Given the description of an element on the screen output the (x, y) to click on. 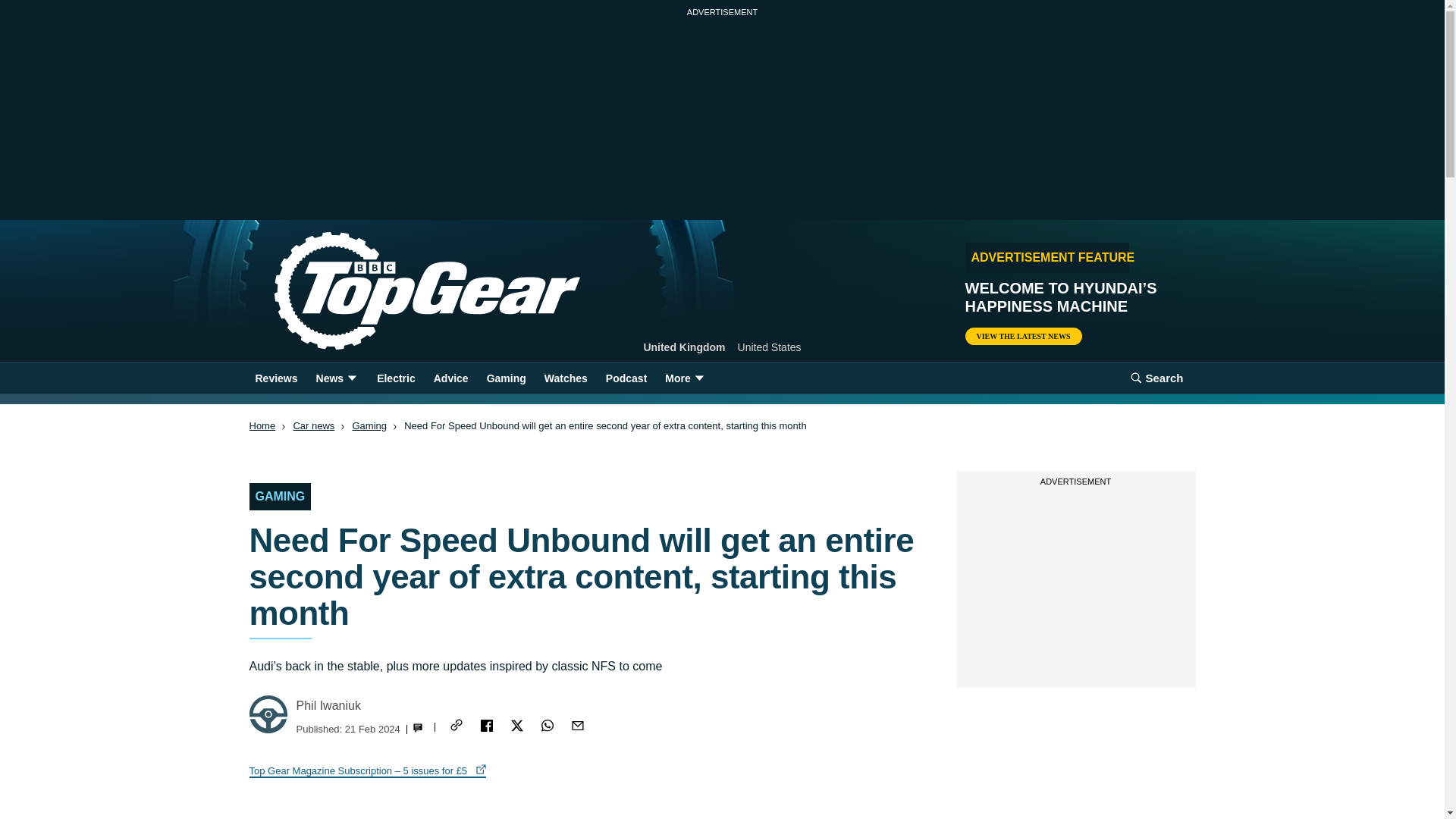
Home (261, 425)
Gaming (506, 377)
United States (770, 347)
Home (401, 290)
Watches (566, 377)
Search (1156, 377)
Gaming (369, 425)
United Kingdom (684, 347)
More (685, 377)
Car news (313, 425)
